Given the description of an element on the screen output the (x, y) to click on. 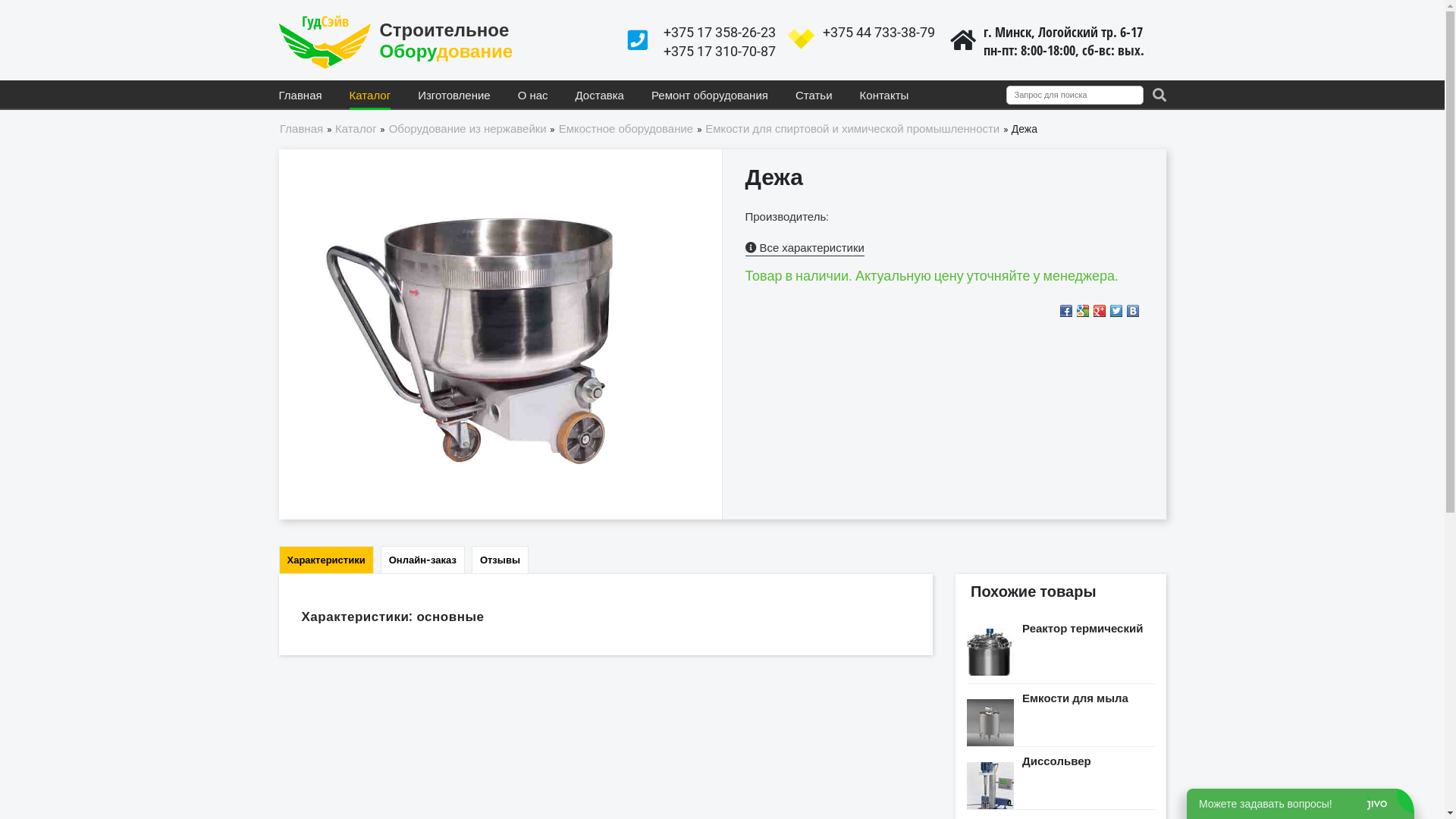
+375 44 733-38-79 Element type: text (878, 32)
+375 17 310-70-87 Element type: text (718, 51)
+375 17 358-26-23 Element type: text (718, 32)
